Given the description of an element on the screen output the (x, y) to click on. 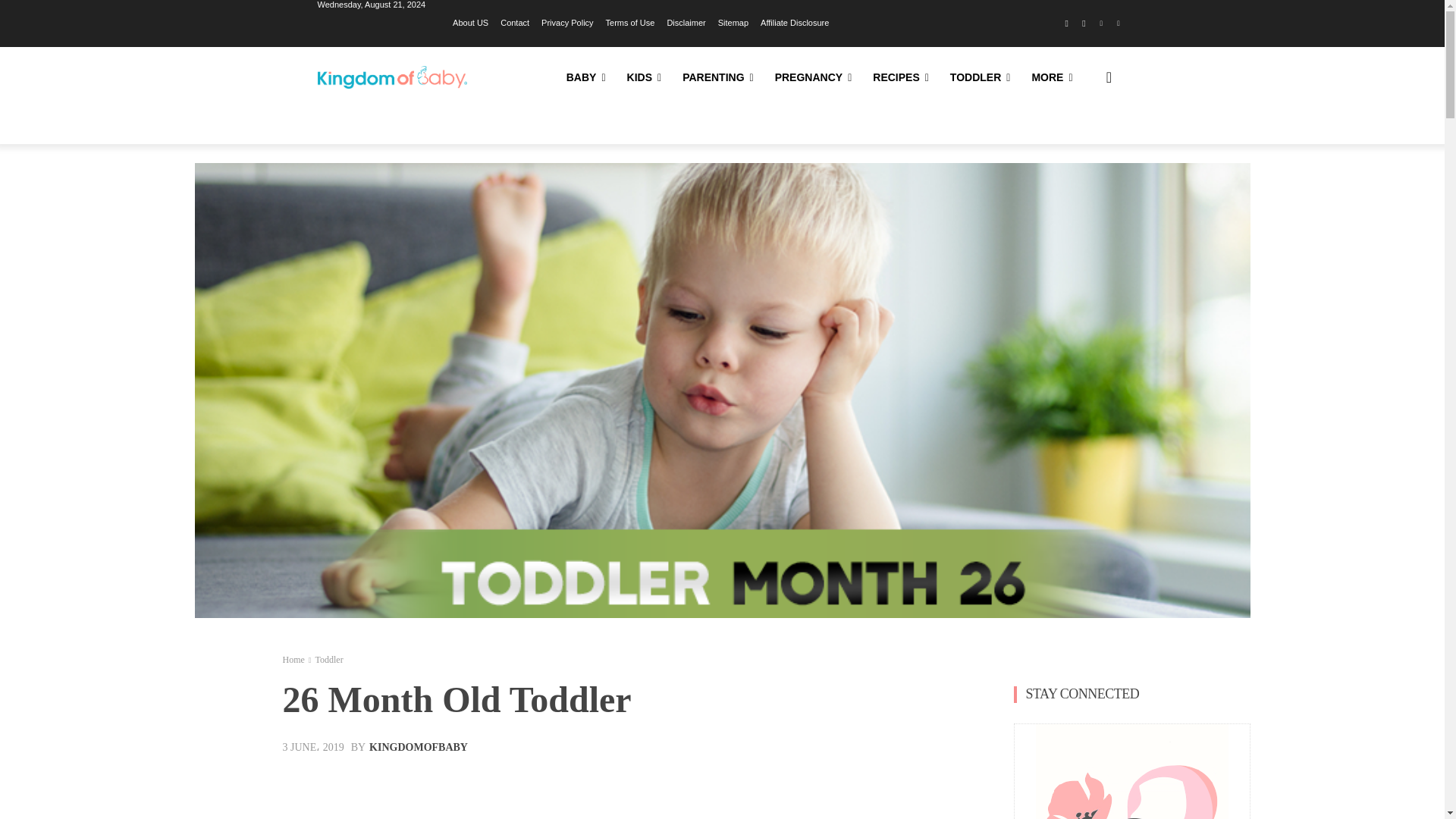
Pinterest (1101, 23)
View all posts in Toddler (328, 659)
Facebook (1066, 23)
Instagram (1084, 23)
Twitter (1117, 23)
